Given the description of an element on the screen output the (x, y) to click on. 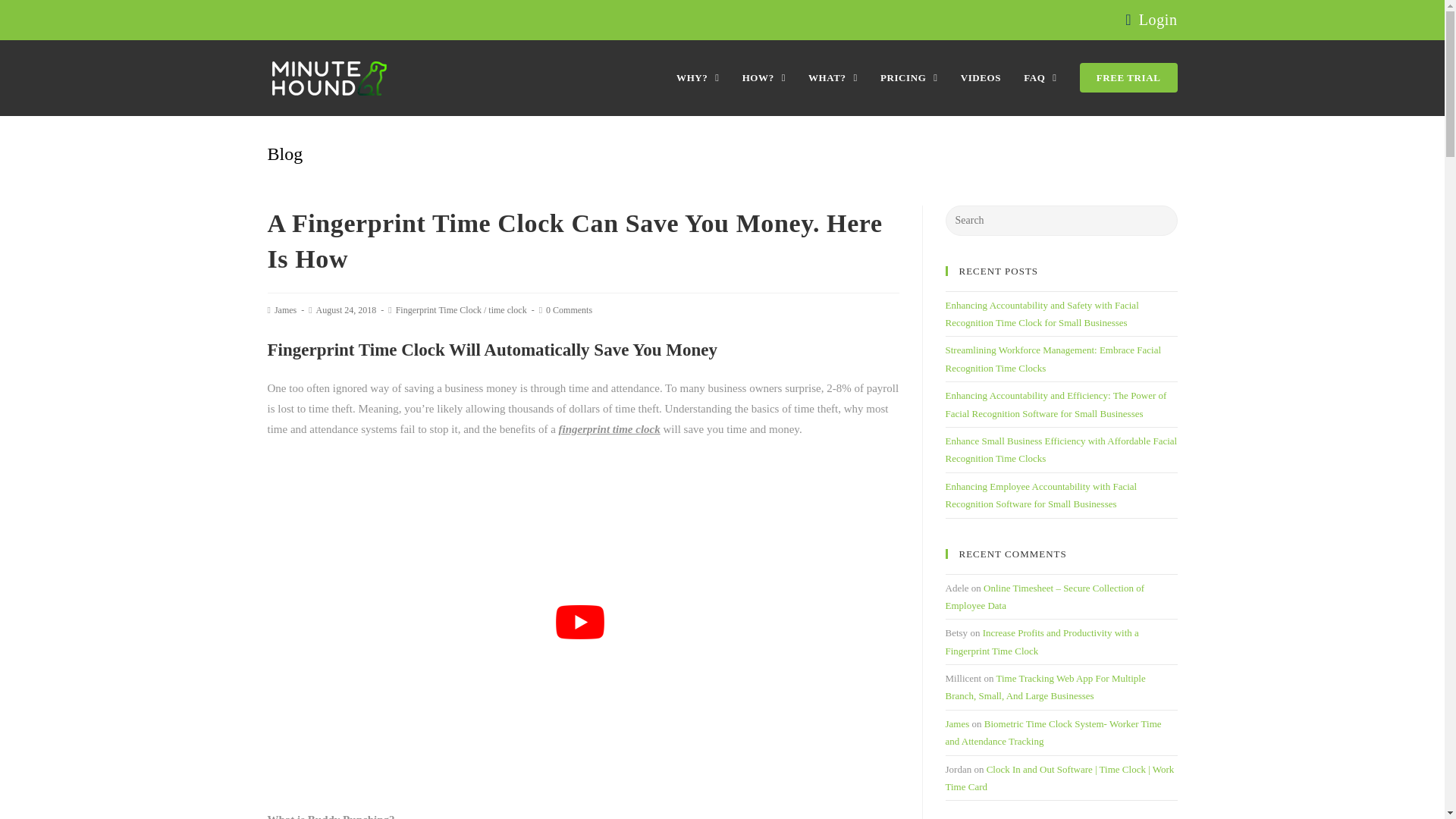
PRICING (909, 78)
Posts by James (286, 309)
Fingerprint Time Clock (438, 309)
FAQ (1039, 78)
WHY? (697, 78)
James (286, 309)
WHAT? (832, 78)
VIDEOS (980, 78)
HOW? (763, 78)
FREE TRIAL (1128, 78)
Login (1157, 19)
0 Comments (569, 309)
time clock (506, 309)
